Given the description of an element on the screen output the (x, y) to click on. 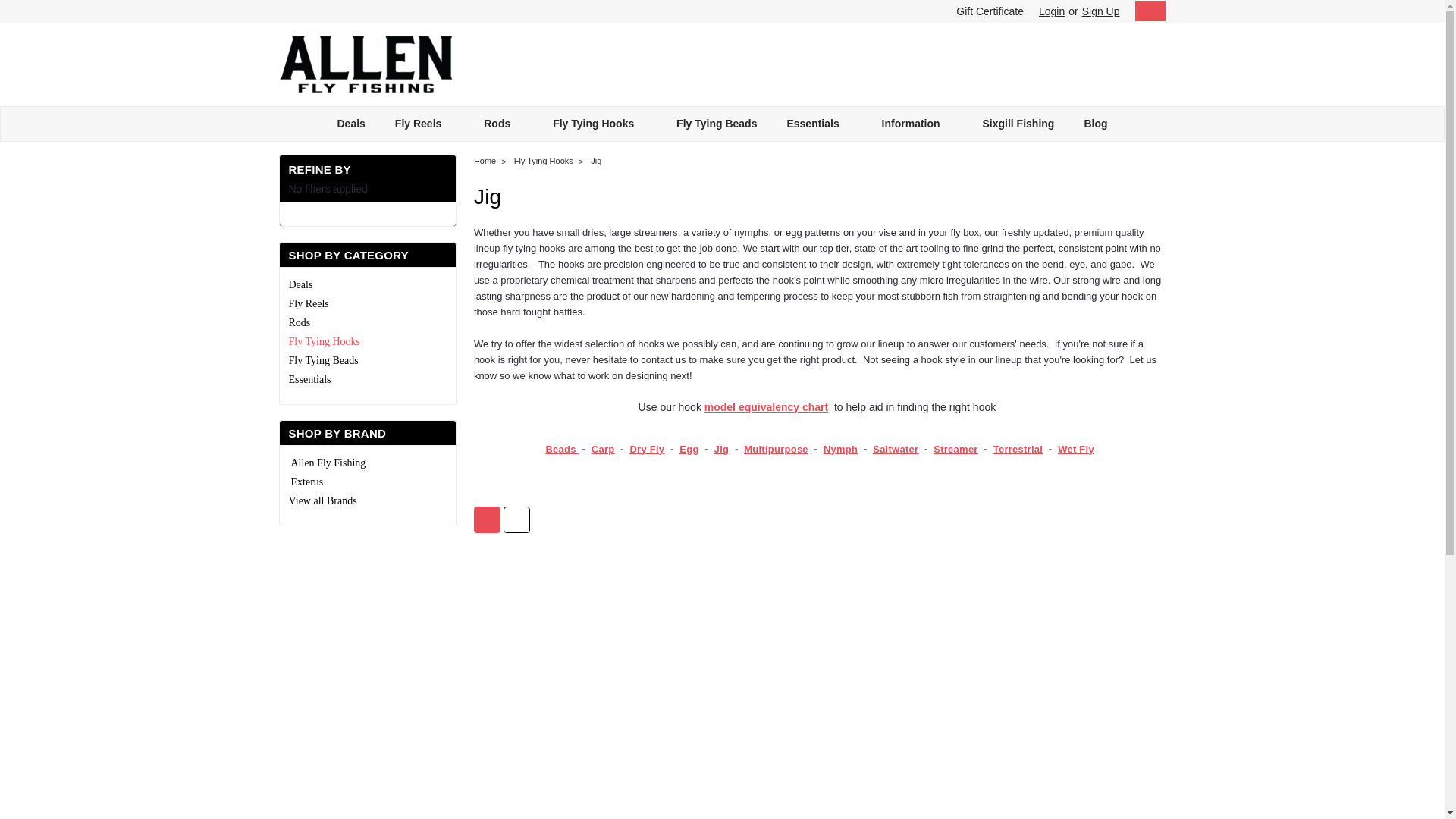
Allen Fly Fishing (365, 64)
Toggle List View (516, 519)
Gift Certificate (986, 11)
Login (1051, 11)
Toggle Grid View (487, 519)
Sign Up (1098, 11)
